Given the description of an element on the screen output the (x, y) to click on. 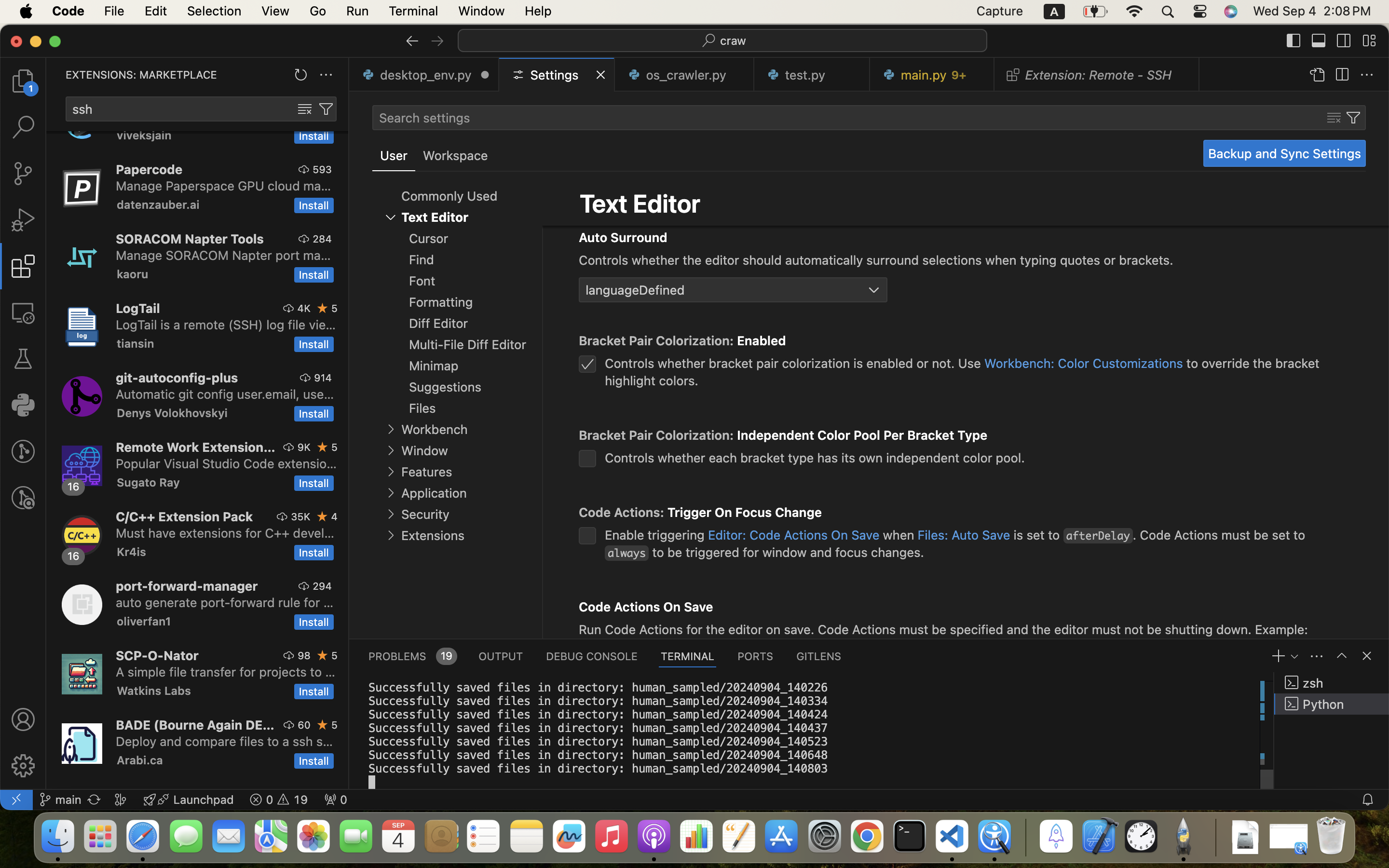
Multi-File Diff Editor Element type: AXStaticText (467, 344)
0 PORTS Element type: AXRadioButton (755, 655)
Suggestions Element type: AXStaticText (445, 386)
zsh  Element type: AXGroup (1331, 682)
Deploy and compare files to a ssh server Element type: AXStaticText (224, 740)
